Given the description of an element on the screen output the (x, y) to click on. 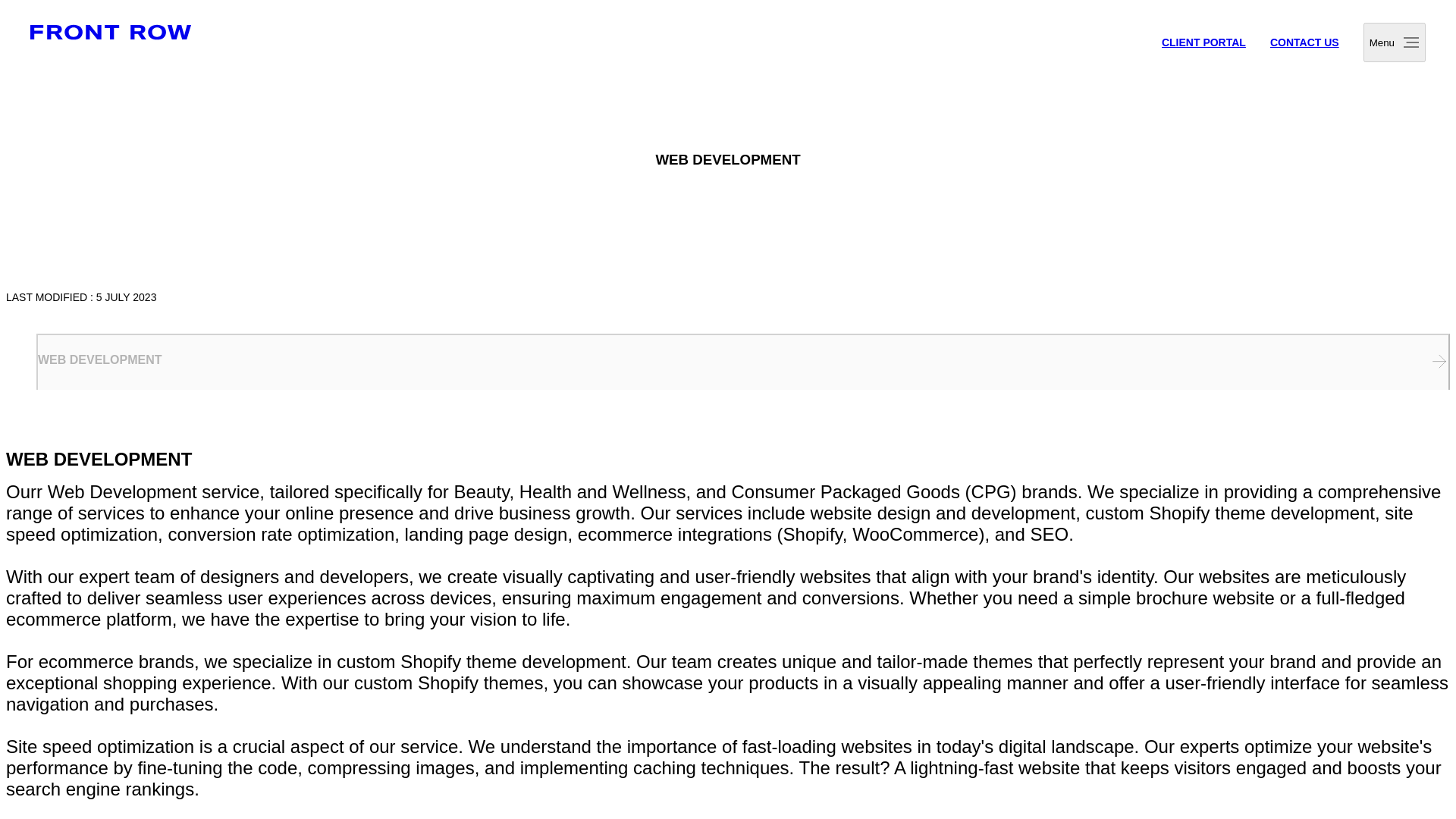
CLIENT PORTAL (1203, 42)
Menu (1393, 42)
CONTACT US (1304, 42)
